Given the description of an element on the screen output the (x, y) to click on. 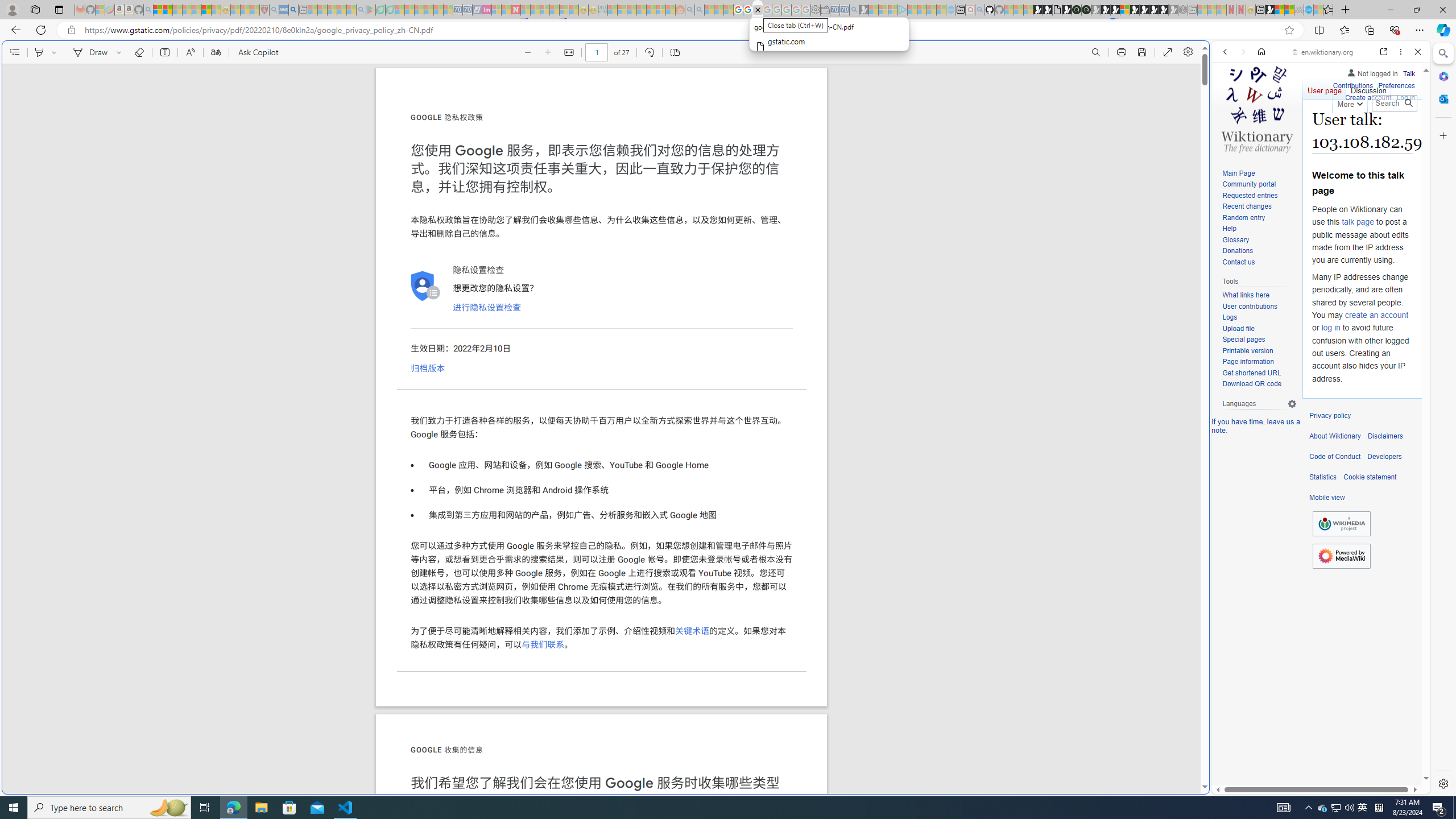
Wikimedia Foundation (1341, 523)
Global web icon (1232, 786)
Code of Conduct (1334, 456)
Contributions (1352, 85)
User page (1324, 87)
Settings - Sleeping (815, 9)
Cookie statement (1369, 477)
Find (Ctrl + F) (1096, 52)
New tab (727, 683)
IMAGES (1262, 130)
